Given the description of an element on the screen output the (x, y) to click on. 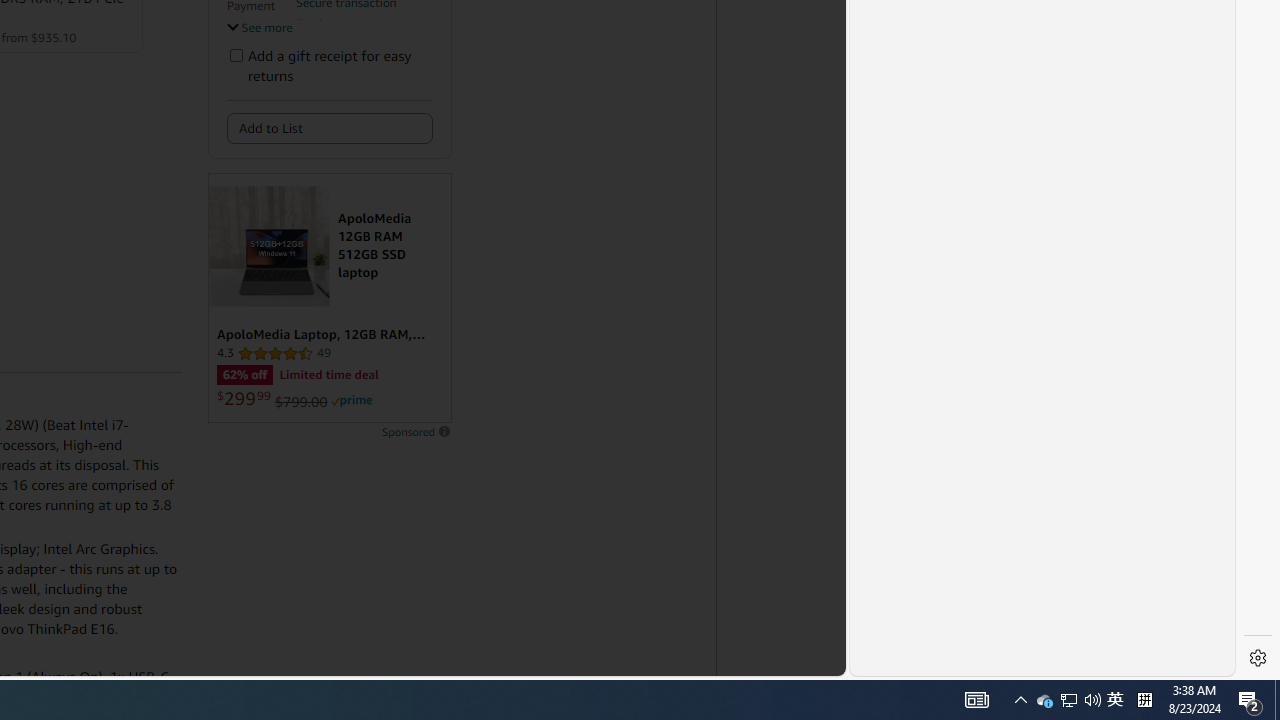
Product support included (363, 31)
Sponsored ad (329, 297)
Add a gift receipt for easy returns (236, 54)
Add to List (329, 128)
Prime (352, 400)
